Given the description of an element on the screen output the (x, y) to click on. 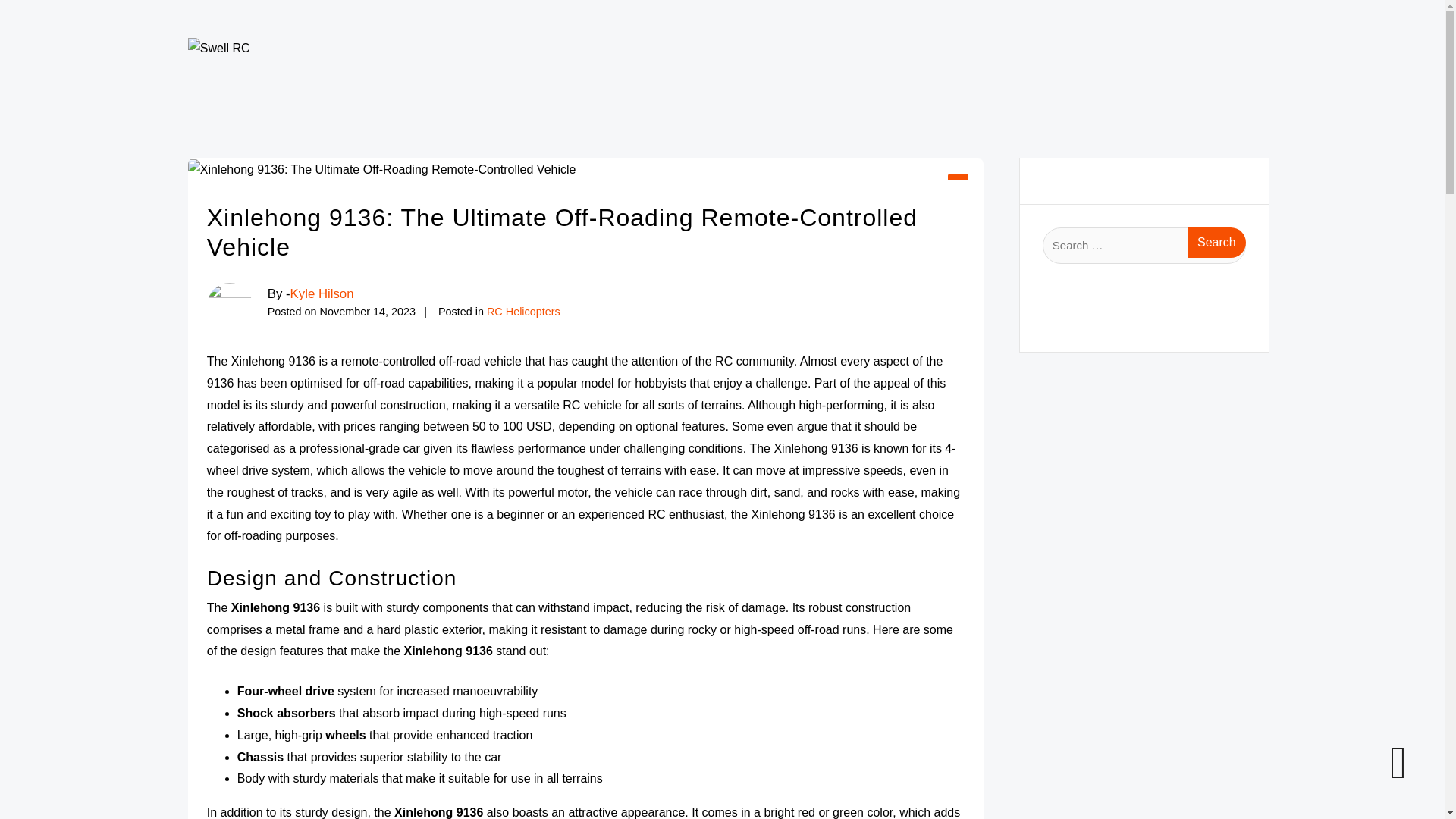
Search (1217, 242)
Kyle Hilson (321, 293)
Search (1217, 242)
RC Helicopters (523, 311)
Search (1217, 242)
